Given the description of an element on the screen output the (x, y) to click on. 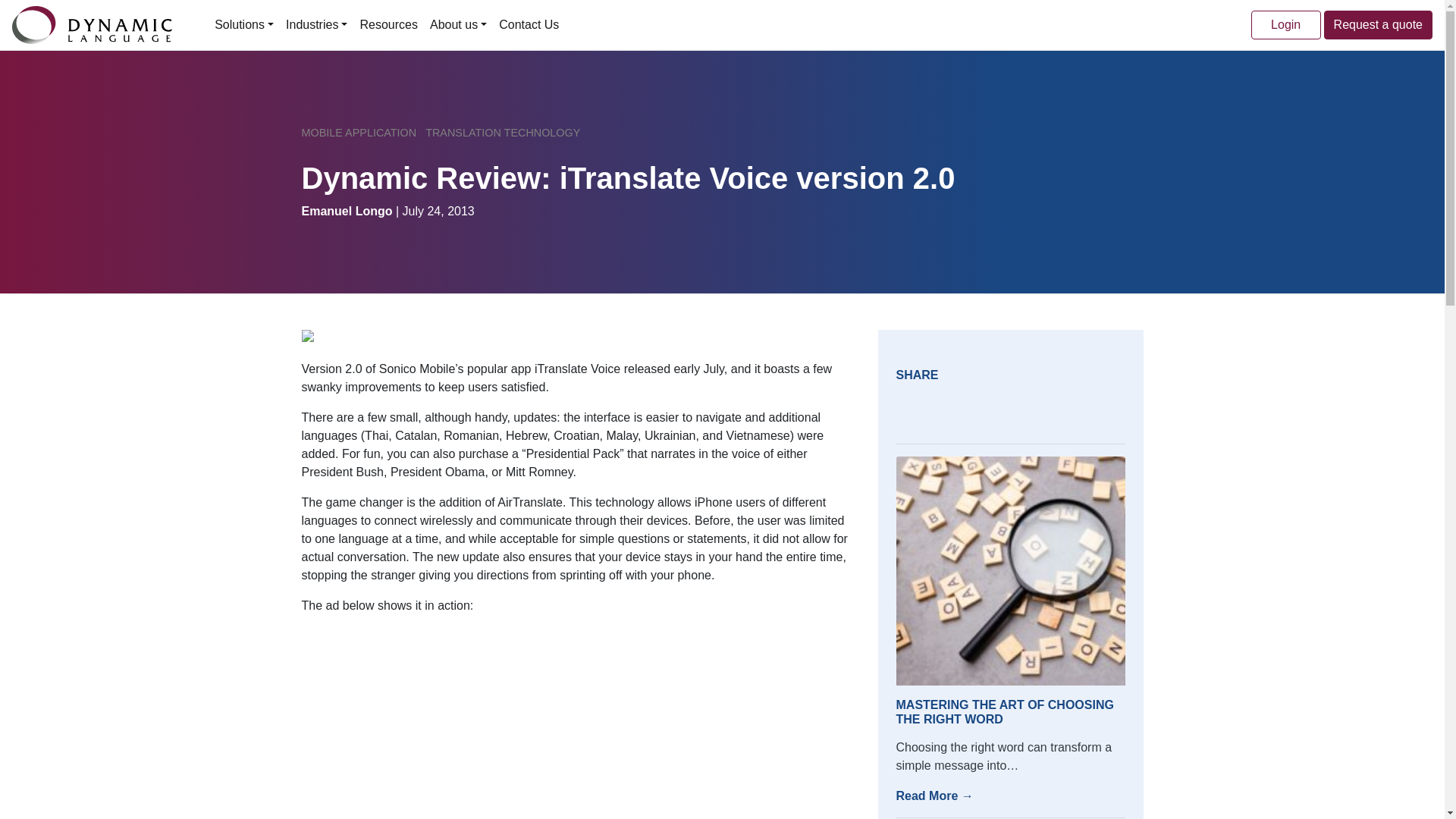
Resources (388, 24)
TRANSLATION TECHNOLOGY (502, 132)
Industries (316, 24)
Request a quote (1377, 24)
Contact Us (528, 24)
MOBILE APPLICATION (358, 132)
Solutions (243, 24)
About us (458, 24)
   Login    (1285, 24)
